Given the description of an element on the screen output the (x, y) to click on. 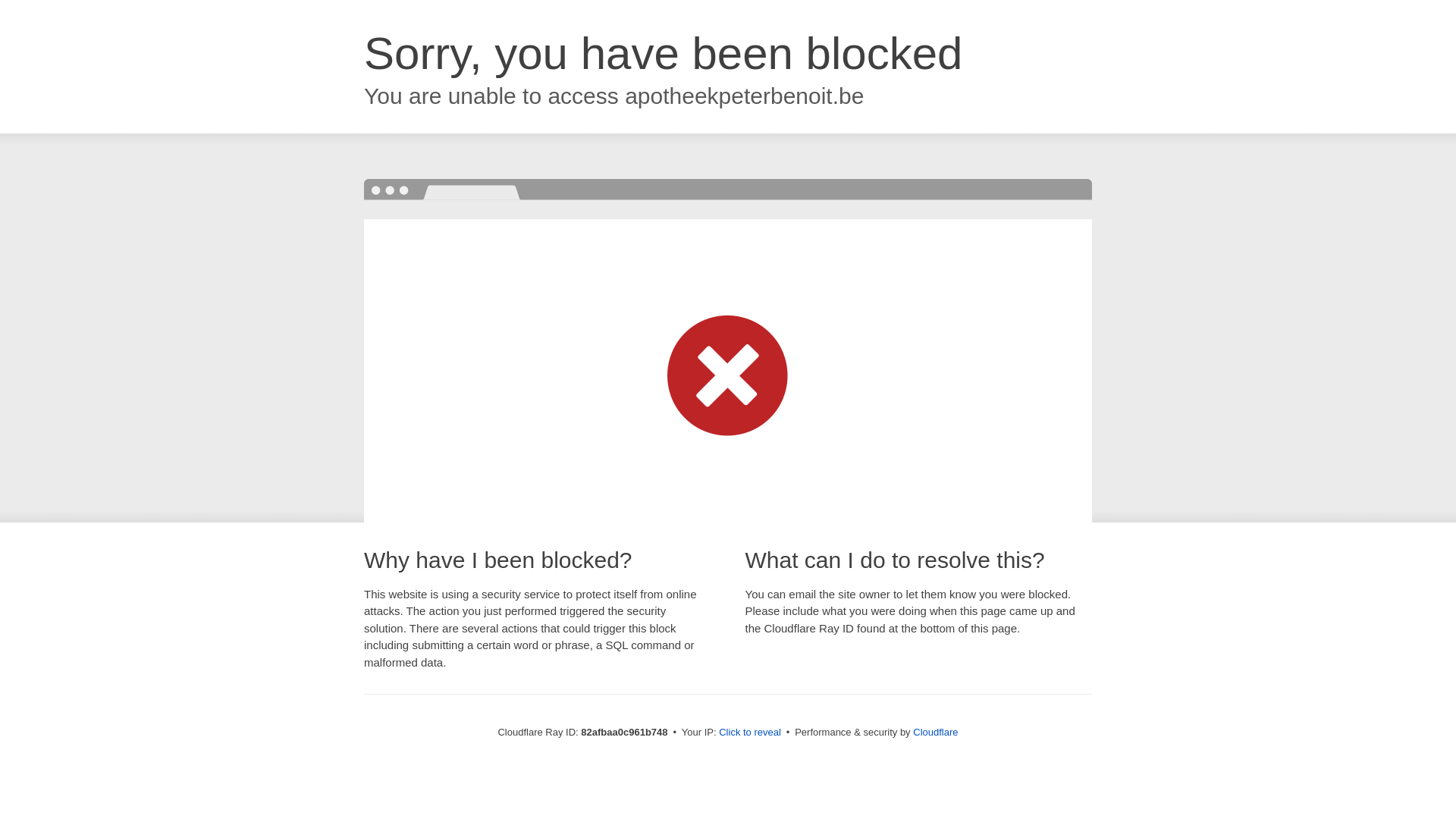
Click to reveal Element type: text (749, 732)
Cloudflare Element type: text (935, 731)
